Given the description of an element on the screen output the (x, y) to click on. 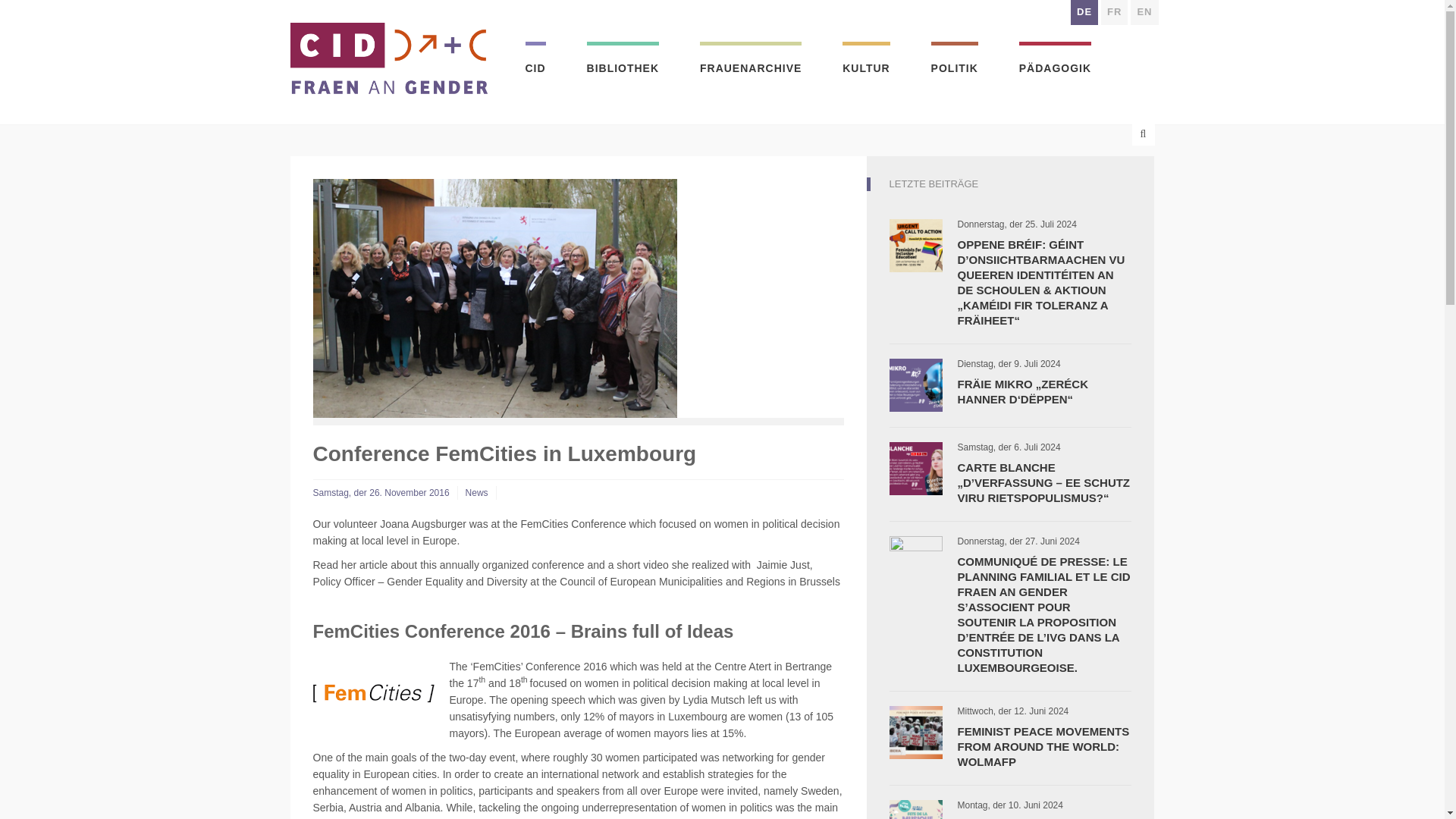
FR (1113, 12)
CID (534, 62)
Permalink to Conference FemCities in Luxembourg (380, 492)
EN (1144, 12)
CID Fraen an Gender (387, 56)
Gender Drops (1054, 62)
DE (1083, 12)
BIBLIOTHEK (622, 62)
View all posts in News (476, 492)
FRAUENARCHIVE (751, 62)
und Gesellschaft (954, 62)
und Geschichte (751, 62)
und Musik (866, 62)
und Mediathek (622, 62)
